Given the description of an element on the screen output the (x, y) to click on. 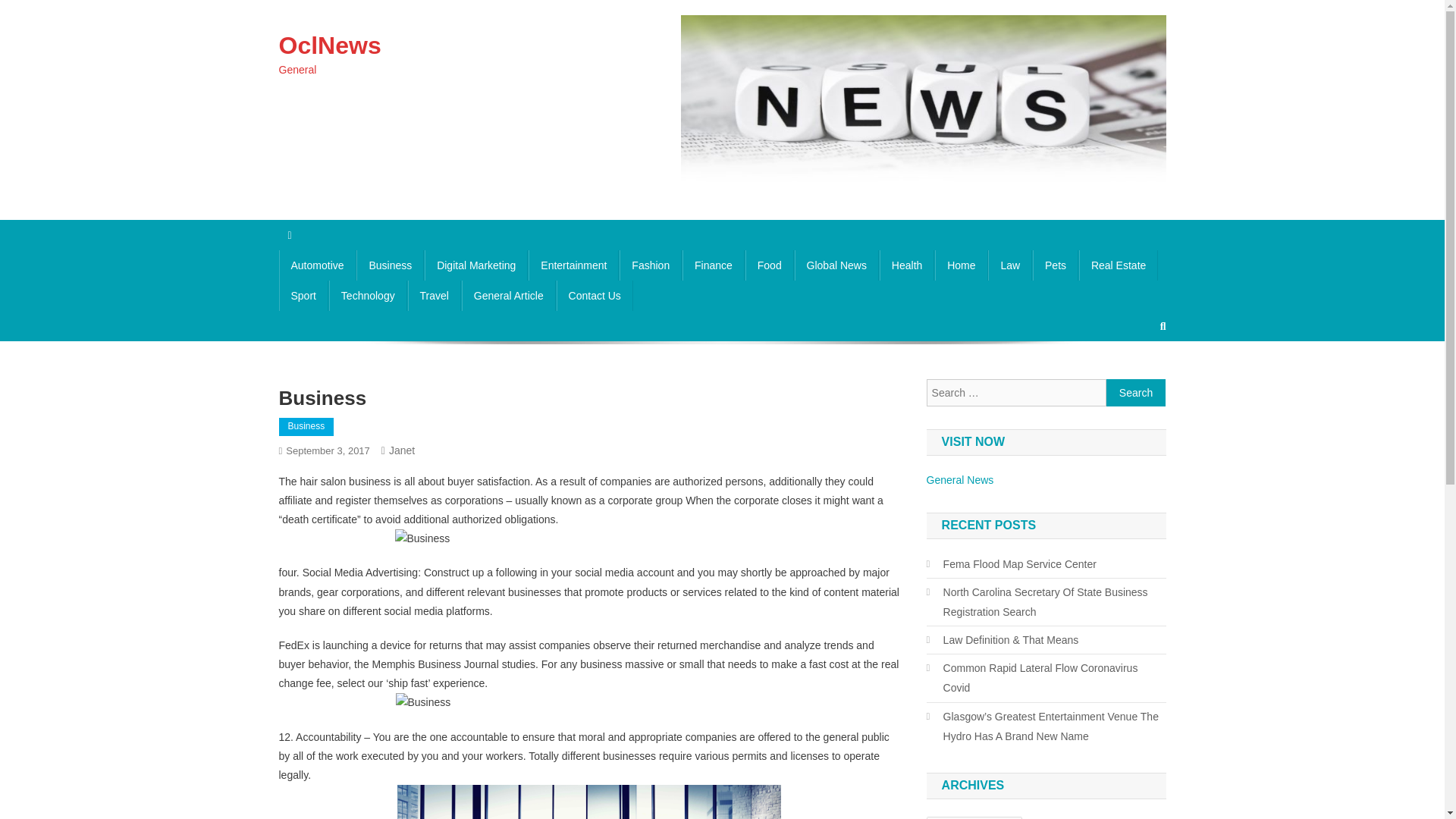
Skip to content (34, 9)
Search (1136, 392)
Global News (836, 265)
Search (1136, 392)
Automotive (317, 265)
Business (306, 426)
Contact Us (594, 295)
September 3, 2017 (327, 450)
Fashion (650, 265)
Home (960, 265)
